Given the description of an element on the screen output the (x, y) to click on. 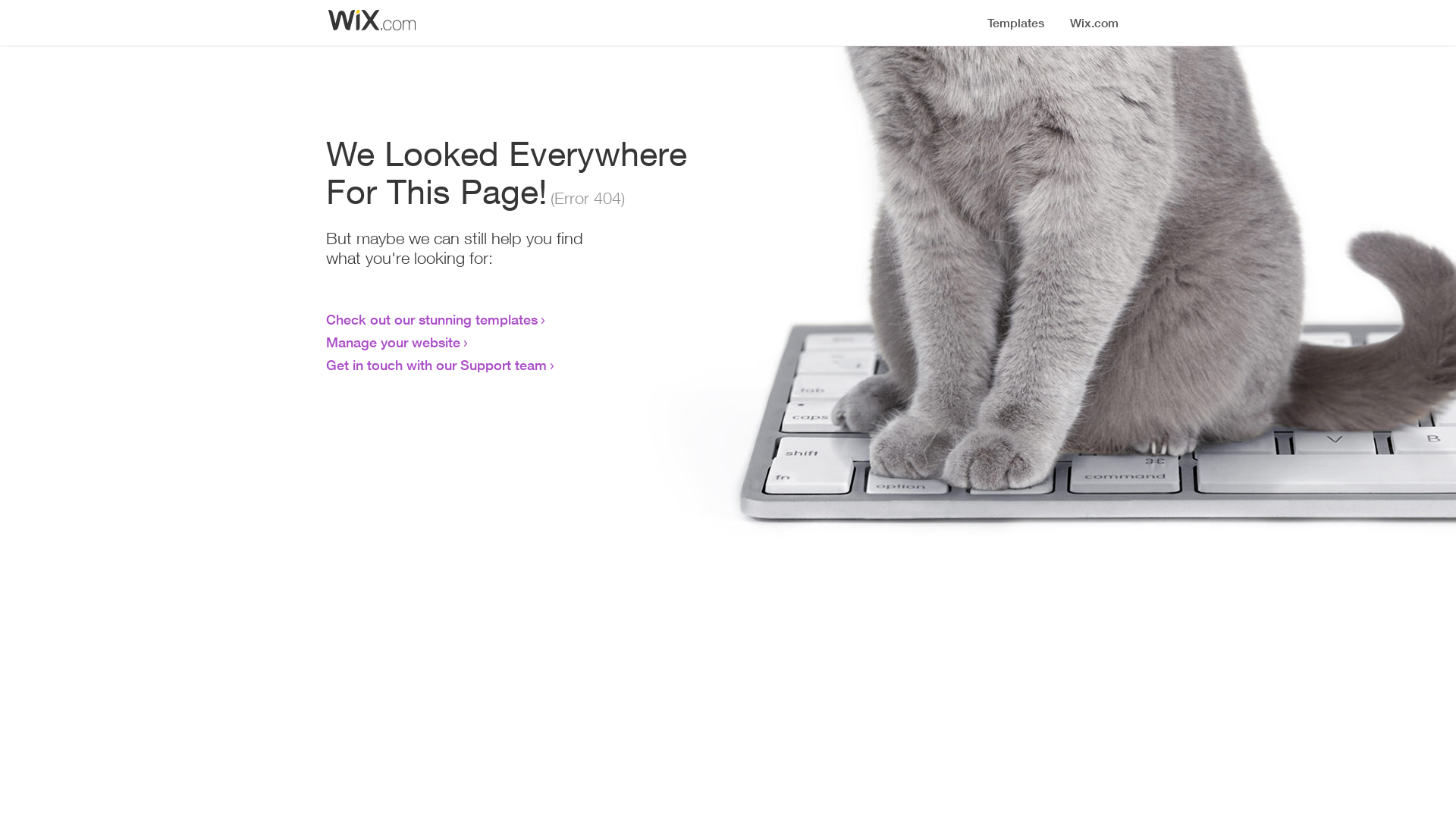
Check out our stunning templates Element type: text (431, 318)
Manage your website Element type: text (393, 341)
Get in touch with our Support team Element type: text (436, 364)
